Given the description of an element on the screen output the (x, y) to click on. 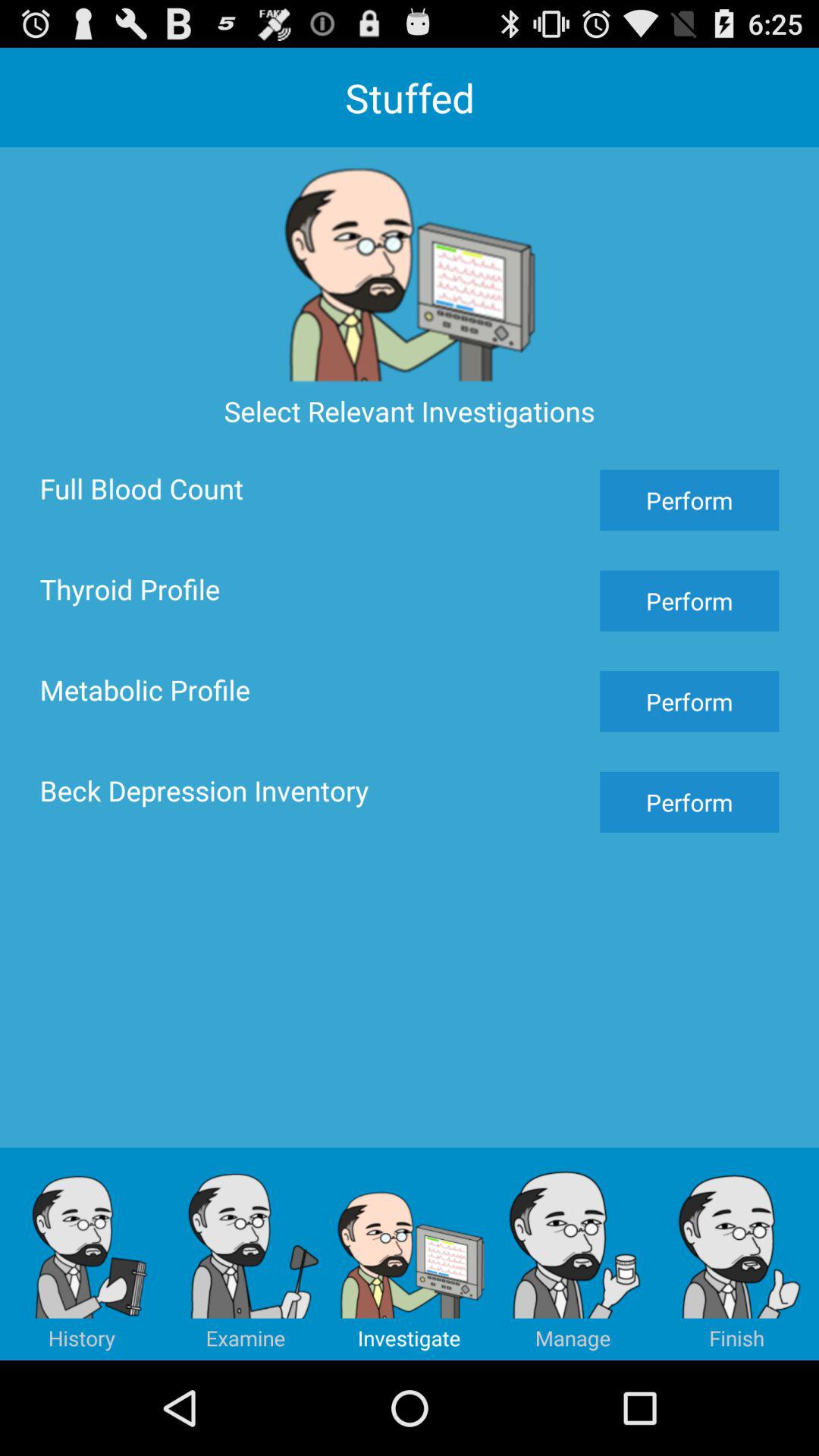
open item below beck depression inventory item (81, 1253)
